Given the description of an element on the screen output the (x, y) to click on. 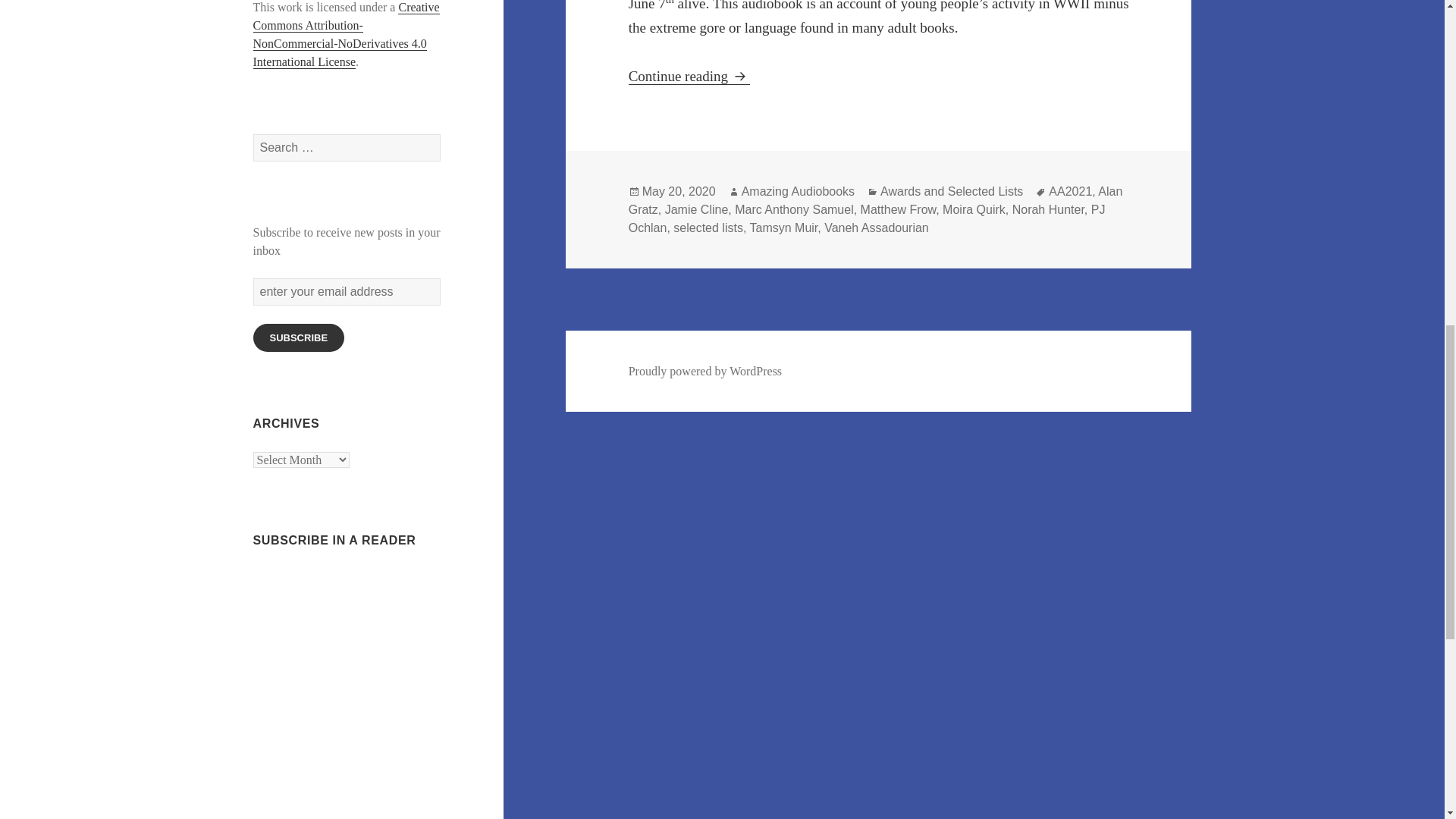
AA2021 (1070, 192)
Amazing Audiobooks (797, 192)
May 20, 2020 (679, 192)
SUBSCRIBE (299, 337)
Marc Anthony Samuel (794, 210)
Alan Gratz (875, 201)
